Given the description of an element on the screen output the (x, y) to click on. 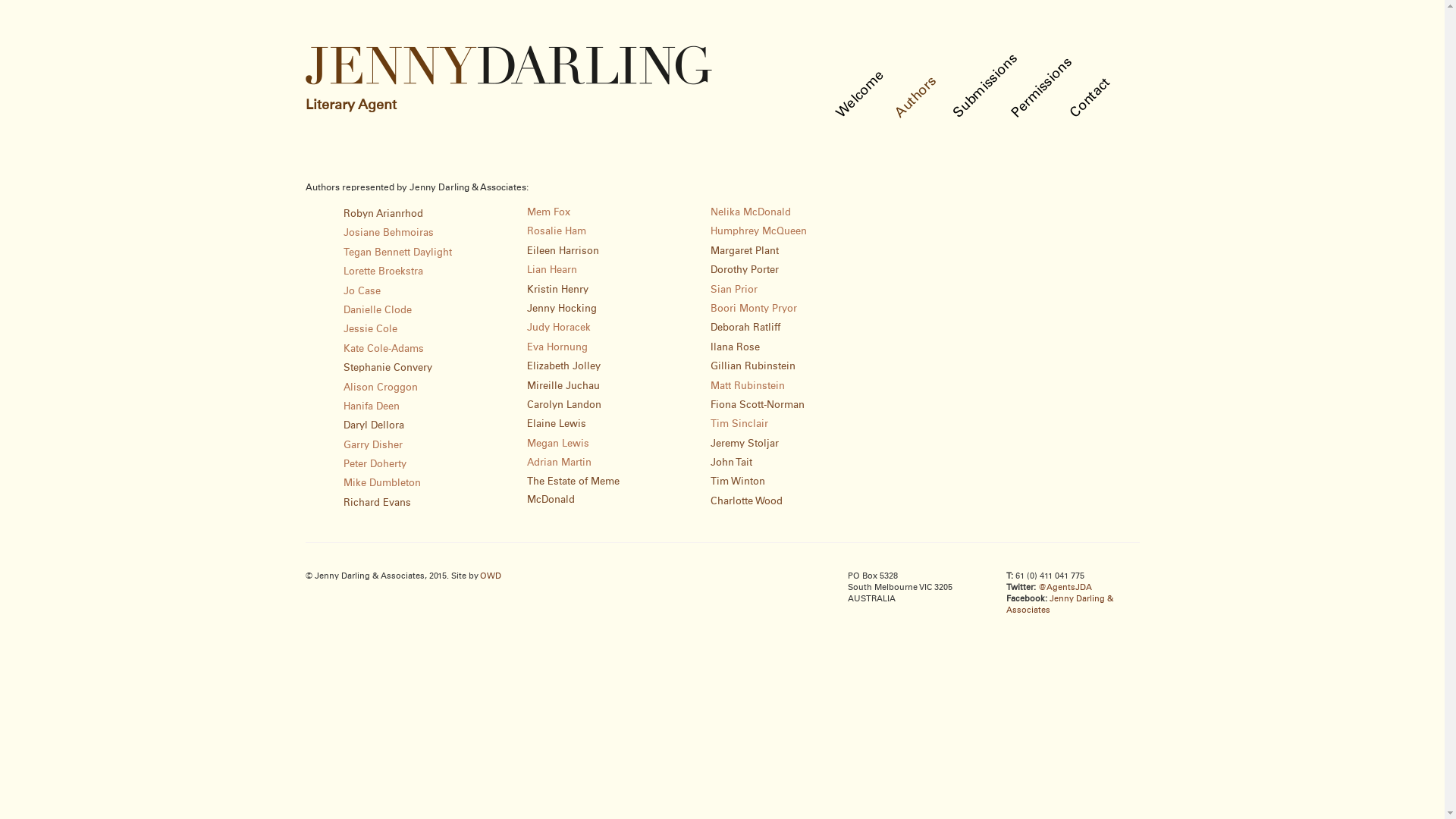
Josiane Behmoiras Element type: text (387, 233)
Humphrey McQueen Element type: text (758, 231)
Garry Disher Element type: text (371, 445)
Jenny Darling & Associates Element type: text (1059, 604)
@AgentsJDA Element type: text (1064, 587)
Mike Dumbleton Element type: text (381, 483)
Boori Monty Pryor Element type: text (753, 308)
Jessie Cole Element type: text (369, 329)
Jo Case Element type: text (360, 291)
Submissions Element type: text (992, 58)
Permissions Element type: text (1048, 62)
Nelika McDonald Element type: text (750, 212)
Megan Lewis Element type: text (558, 443)
Adrian Martin Element type: text (559, 462)
Sian Prior Element type: text (733, 289)
Eva Hornung Element type: text (557, 347)
Contact Element type: text (1092, 82)
Welcome Element type: text (864, 74)
Kate Cole-Adams Element type: text (382, 349)
Lorette Broekstra Element type: text (382, 271)
Judy Horacek Element type: text (558, 327)
OWD Element type: text (489, 575)
Alison Croggon Element type: text (379, 387)
Authors Element type: text (918, 80)
Mem Fox Element type: text (548, 212)
Tegan Bennett Daylight Element type: text (396, 252)
Lian Hearn Element type: text (552, 270)
Matt Rubinstein Element type: text (747, 386)
Rosalie Ham Element type: text (556, 231)
Danielle Clode Element type: text (376, 310)
Peter Doherty Element type: text (373, 464)
Hanifa Deen Element type: text (370, 406)
Tim Sinclair Element type: text (739, 424)
